Given the description of an element on the screen output the (x, y) to click on. 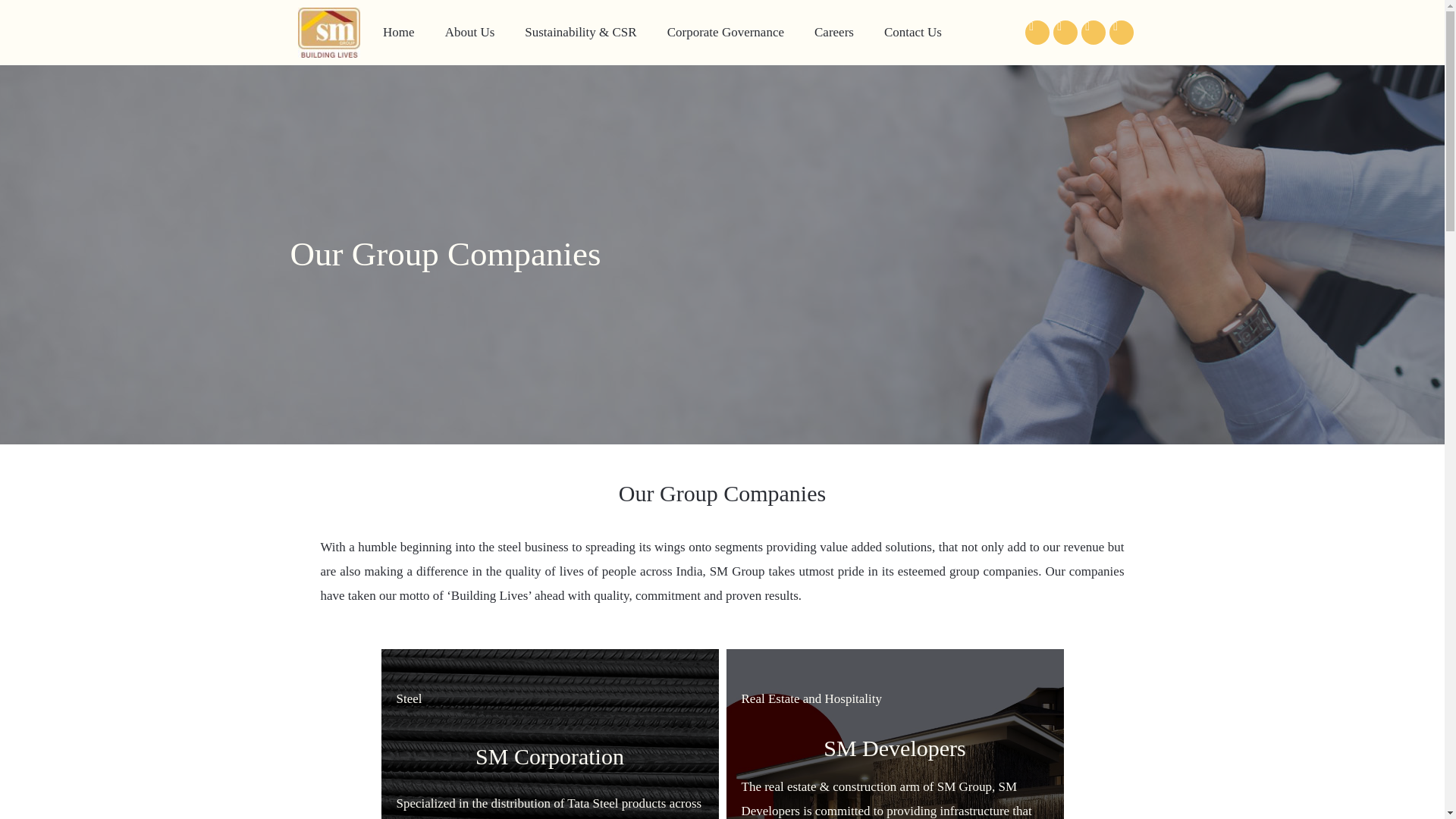
About Us (470, 32)
Contact Us (912, 32)
Corporate Governance (725, 32)
sm logo building lives (328, 32)
Home (398, 32)
Careers (834, 32)
